Given the description of an element on the screen output the (x, y) to click on. 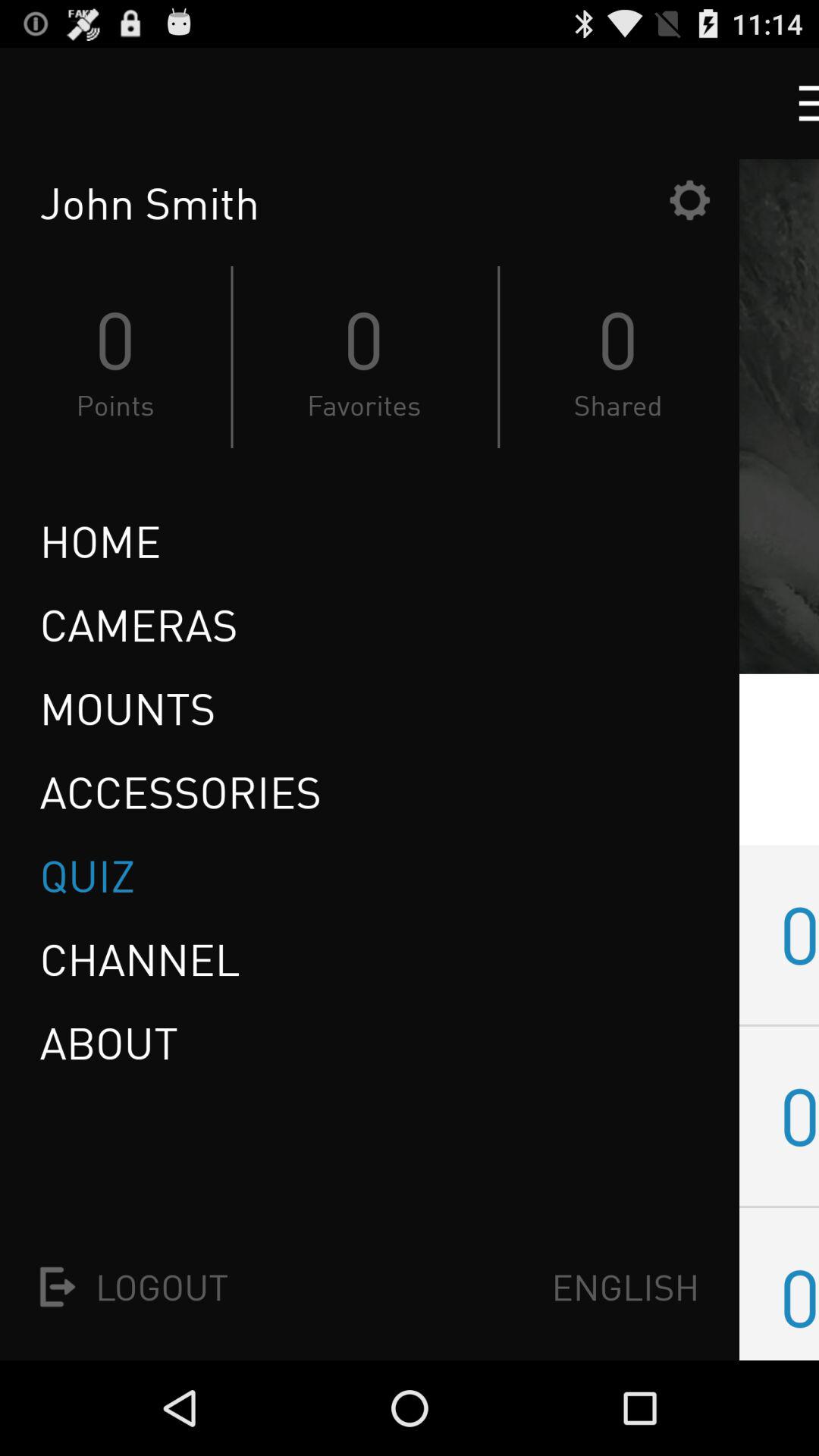
press the icon below the 02 icon (799, 1296)
